Given the description of an element on the screen output the (x, y) to click on. 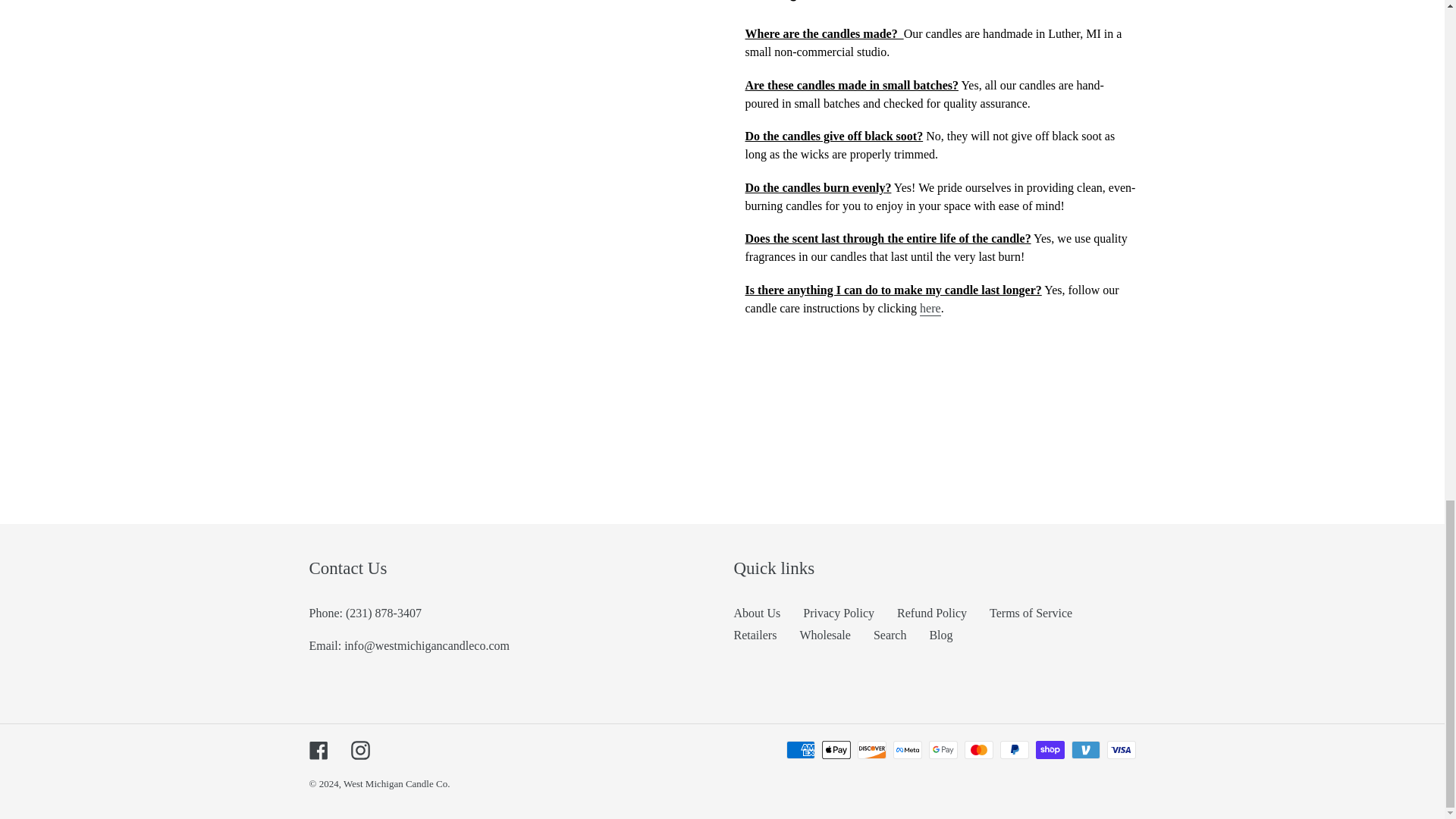
Privacy Policy (839, 612)
Blog (940, 634)
About Us (756, 612)
Google Pay (942, 750)
American Express (799, 750)
Wholesale (824, 634)
Visa (1120, 750)
here (930, 309)
Refund Policy (931, 612)
West Michigan Candle Co. (396, 783)
Instagram (359, 750)
Discover (871, 750)
Apple Pay (836, 750)
Venmo (1084, 750)
Shop Pay (1049, 750)
